Given the description of an element on the screen output the (x, y) to click on. 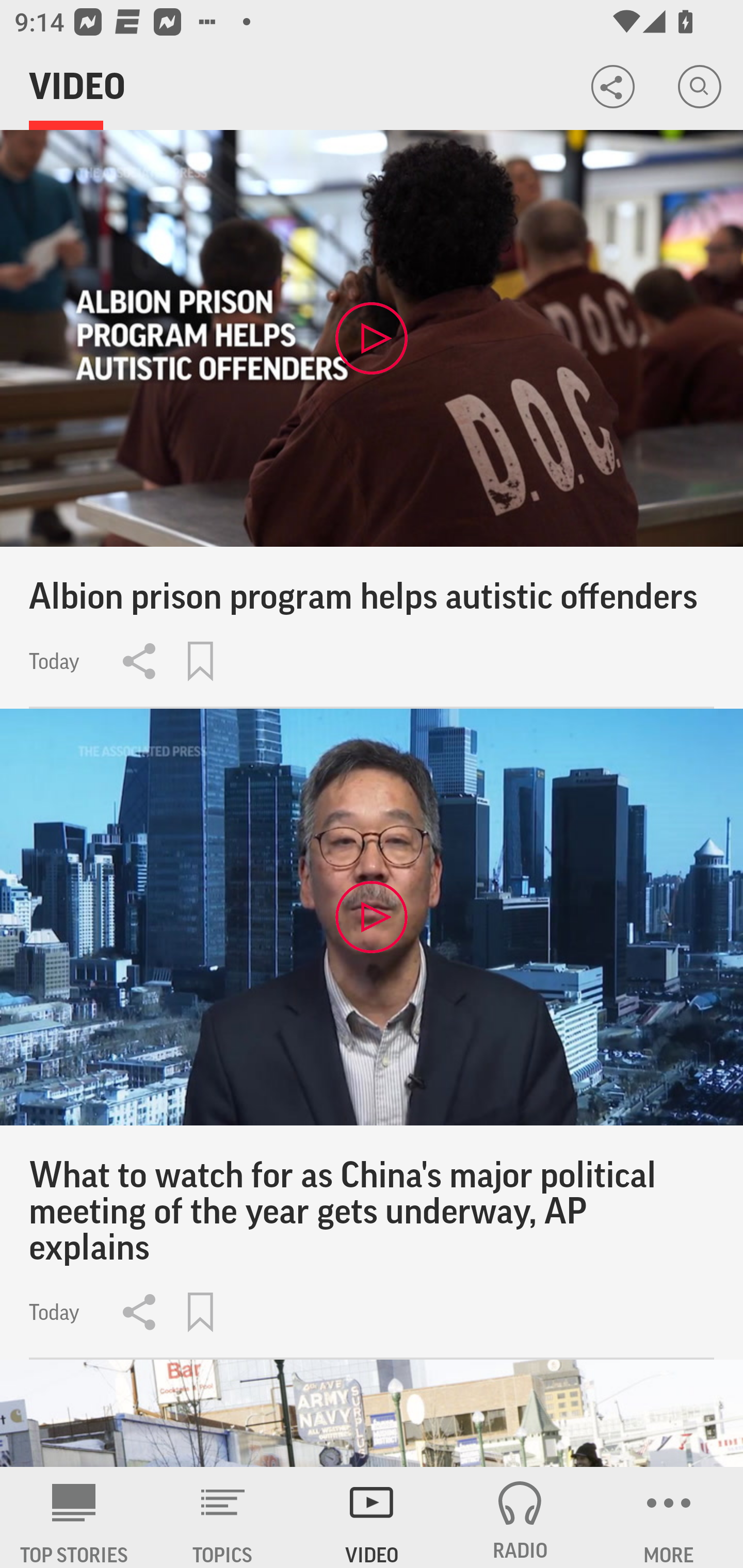
AP News TOP STORIES (74, 1517)
TOPICS (222, 1517)
VIDEO (371, 1517)
RADIO (519, 1517)
MORE (668, 1517)
